Given the description of an element on the screen output the (x, y) to click on. 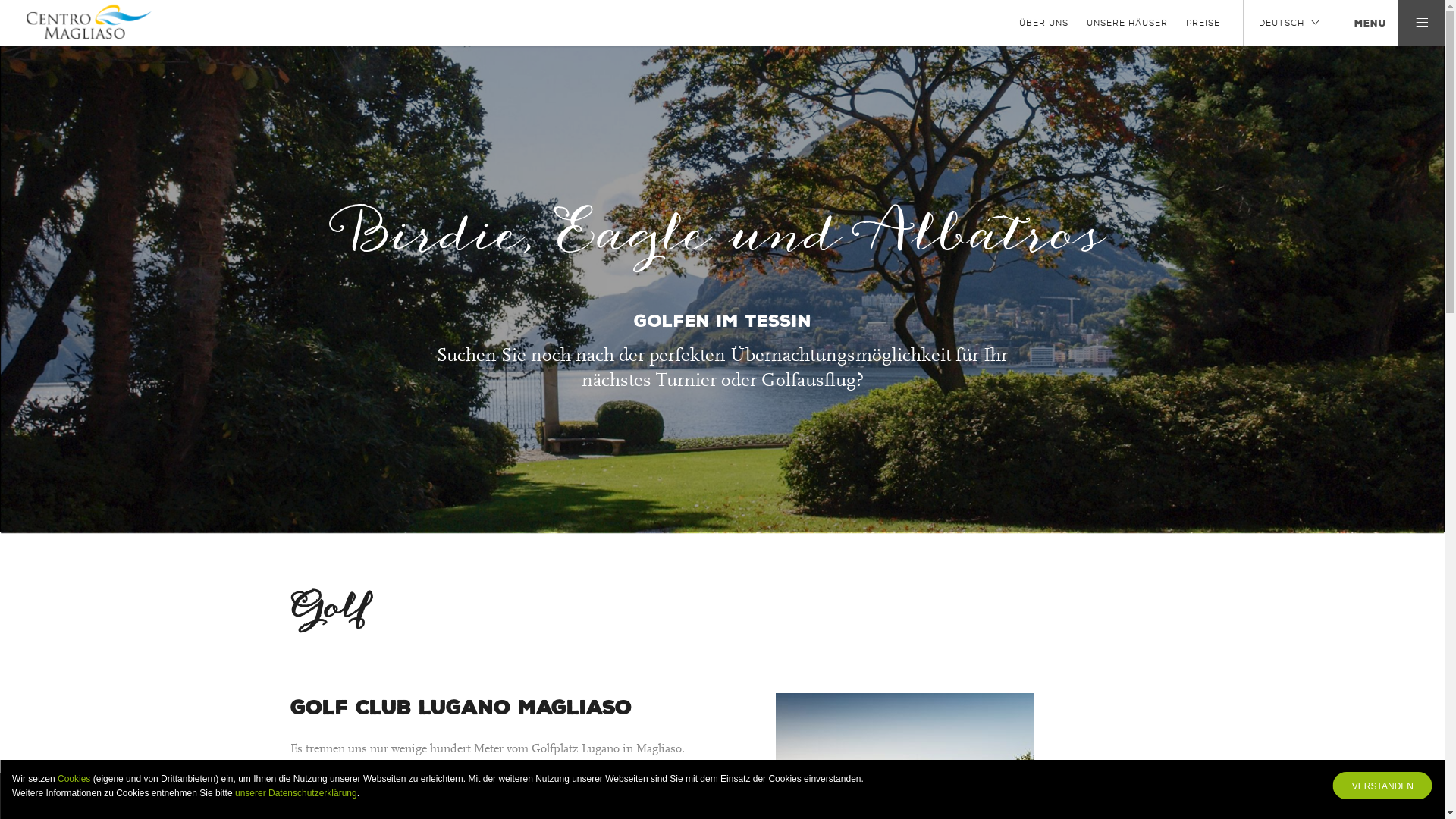
MENU Element type: text (1359, 23)
Cookies Element type: text (73, 778)
DEUTSCH Element type: text (1289, 23)
Centro Magliaso Element type: hover (88, 19)
Preise Element type: text (1203, 22)
VERSTANDEN Element type: text (1382, 785)
